Given the description of an element on the screen output the (x, y) to click on. 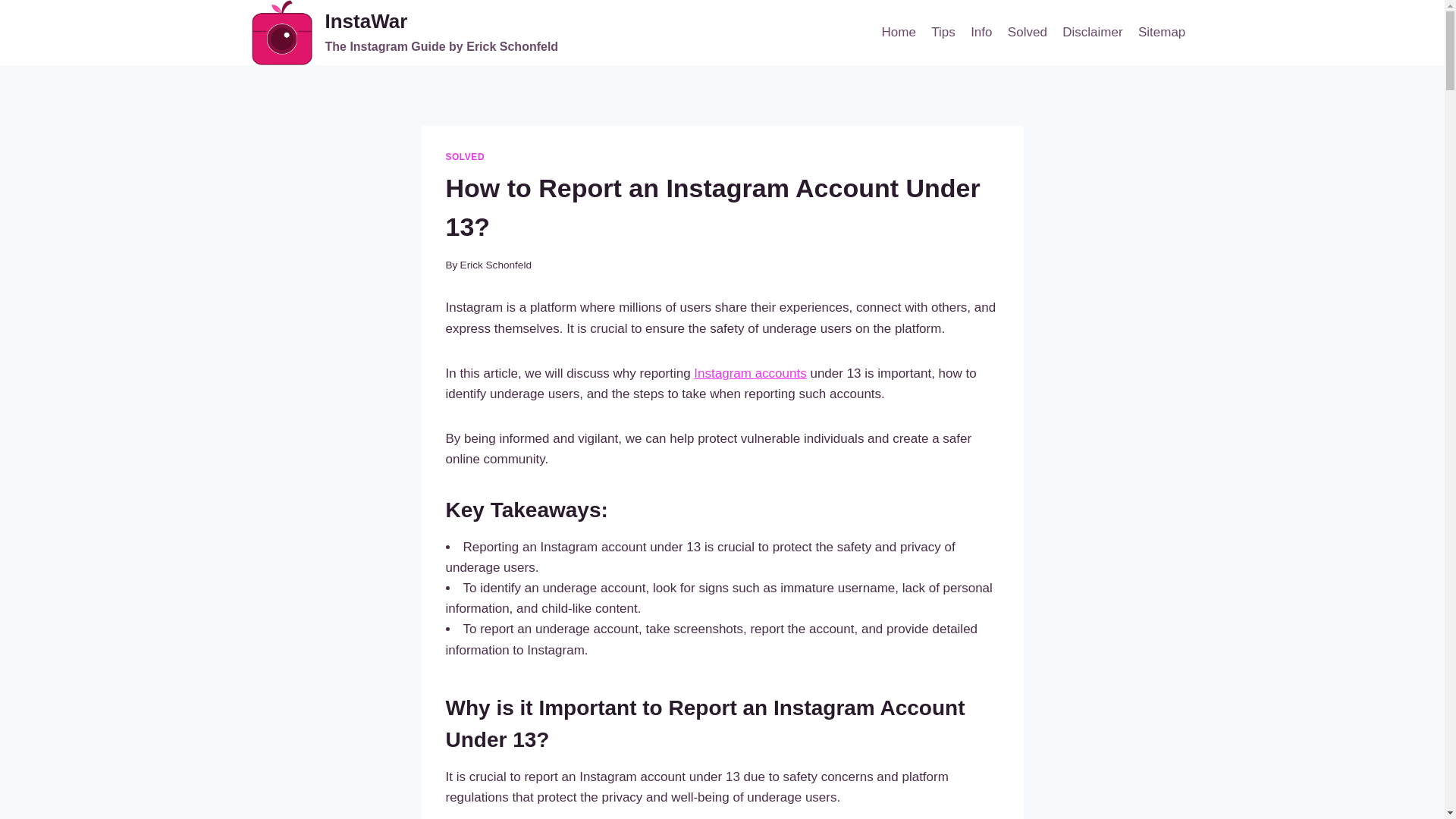
Home (898, 32)
Erick Schonfeld (495, 265)
Disclaimer (1092, 32)
Instagram accounts (405, 32)
SOLVED (750, 373)
Sitemap (464, 156)
Info (1162, 32)
Tips (981, 32)
Solved (942, 32)
